Given the description of an element on the screen output the (x, y) to click on. 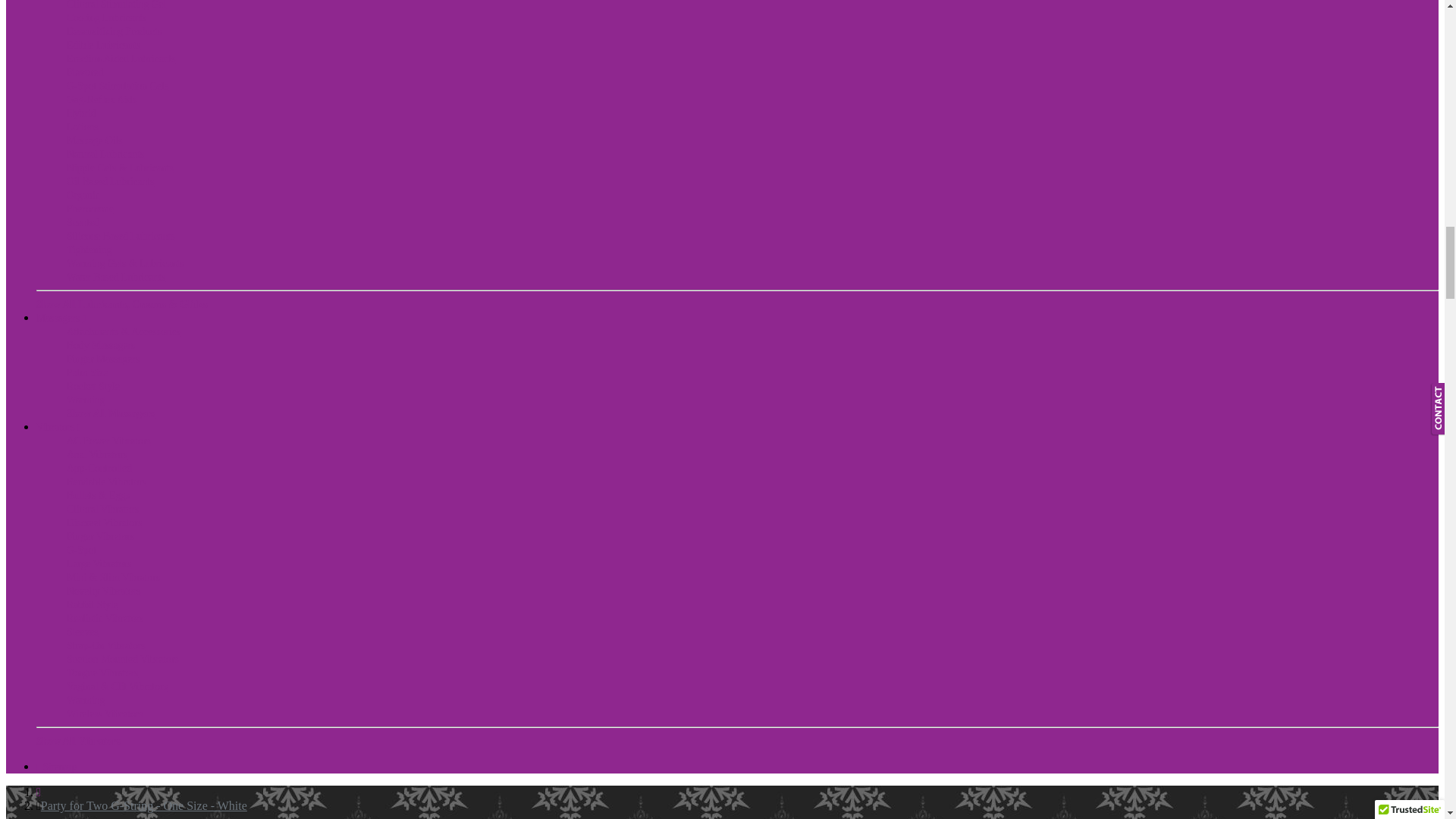
Sitemap (56, 767)
